Given the description of an element on the screen output the (x, y) to click on. 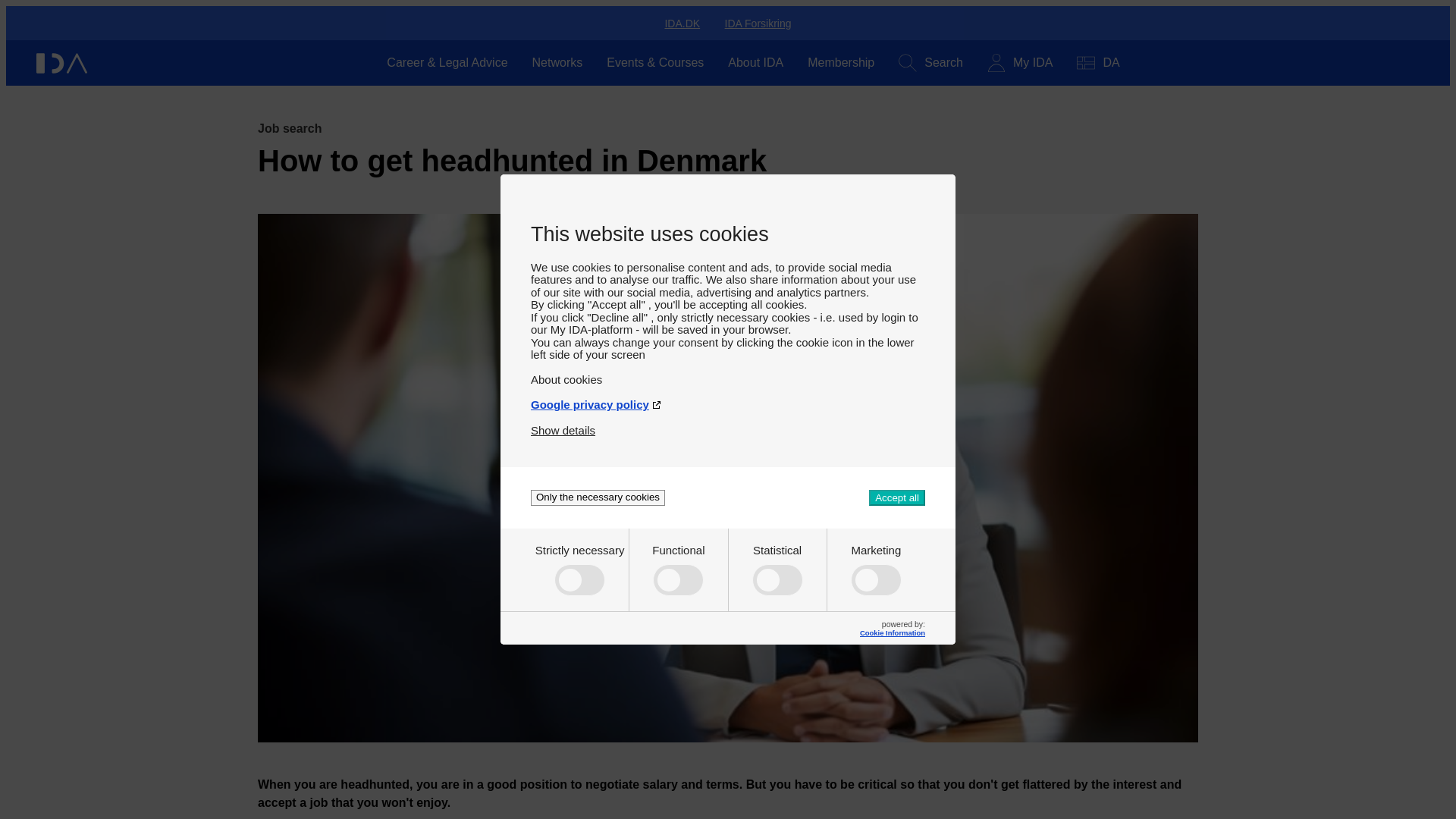
Show details (563, 430)
Google privacy policy (727, 404)
About cookies (727, 379)
